Given the description of an element on the screen output the (x, y) to click on. 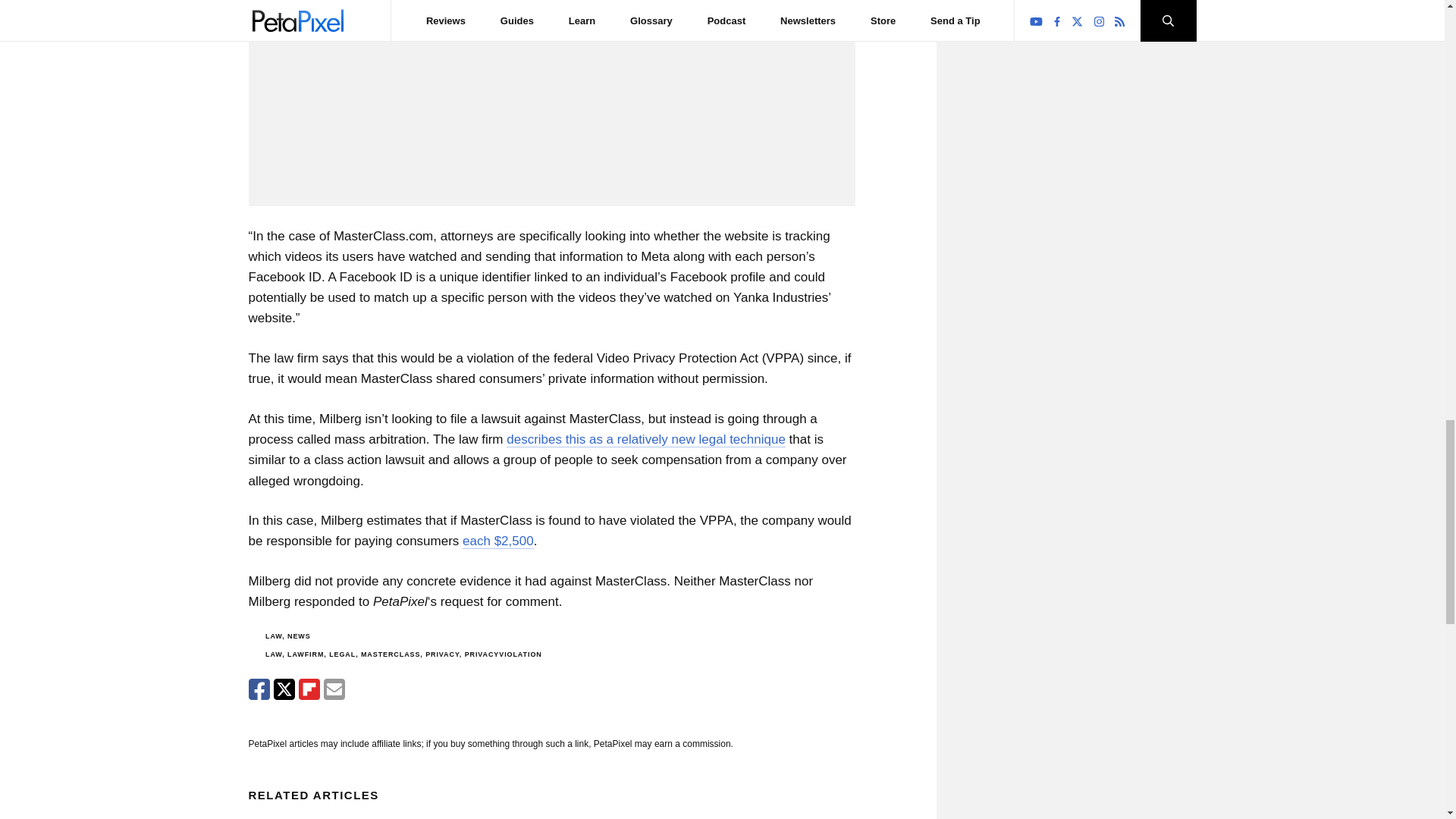
Email this article (333, 689)
LEGAL (342, 654)
LAWFIRM (304, 654)
LAW (273, 654)
describes this as a relatively new legal technique (646, 439)
Share on facebook (258, 689)
Share on Flipboard (309, 689)
MASTERCLASS (390, 654)
NEWS (298, 635)
LAW (273, 635)
Share on X (283, 689)
PRIVACY (442, 654)
